Given the description of an element on the screen output the (x, y) to click on. 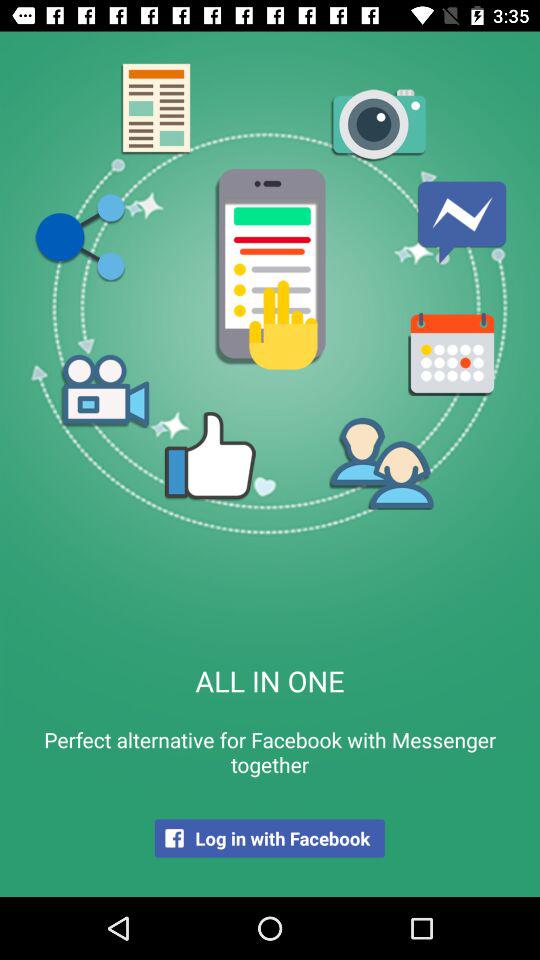
swipe until the log in with item (269, 838)
